Given the description of an element on the screen output the (x, y) to click on. 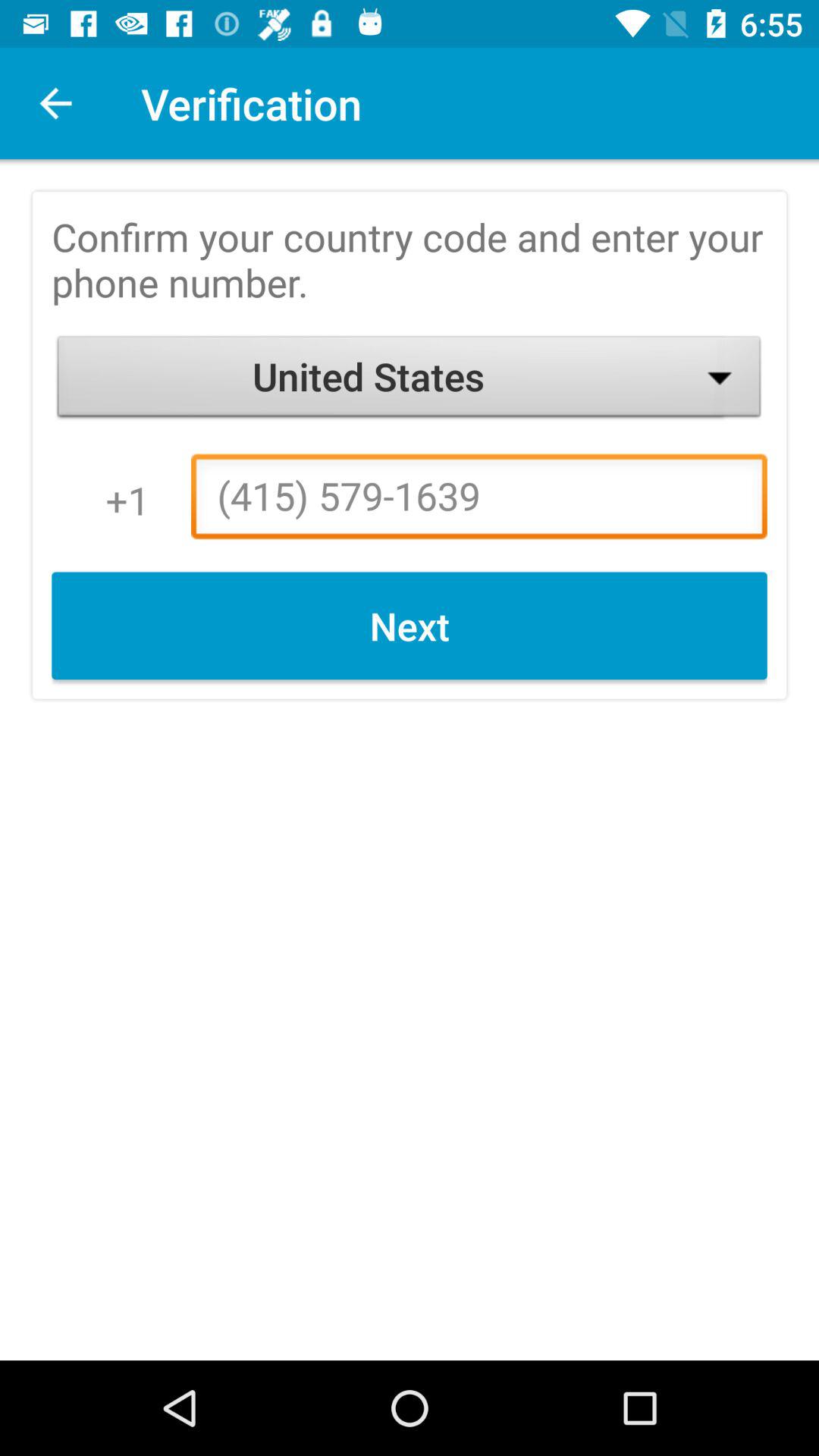
scroll until united states item (409, 380)
